Given the description of an element on the screen output the (x, y) to click on. 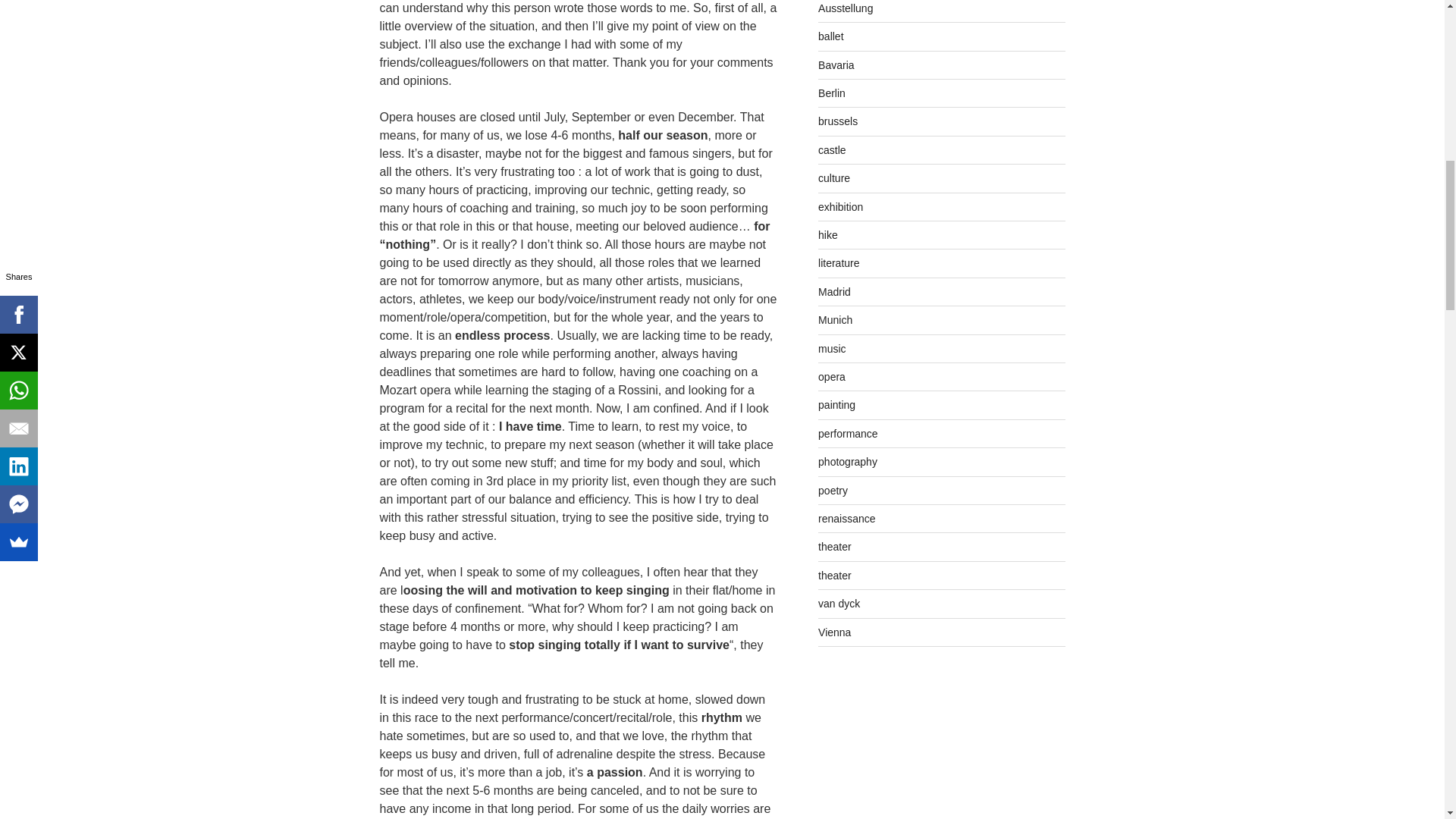
opera (831, 377)
exhibition (840, 206)
Berlin (831, 92)
castle (831, 150)
brussels (837, 121)
music (831, 348)
Madrid (834, 291)
Ausstellung (845, 8)
photography (847, 461)
performance (847, 433)
poetry (832, 490)
renaissance (847, 518)
Bavaria (835, 64)
culture (834, 177)
theater (834, 546)
